Given the description of an element on the screen output the (x, y) to click on. 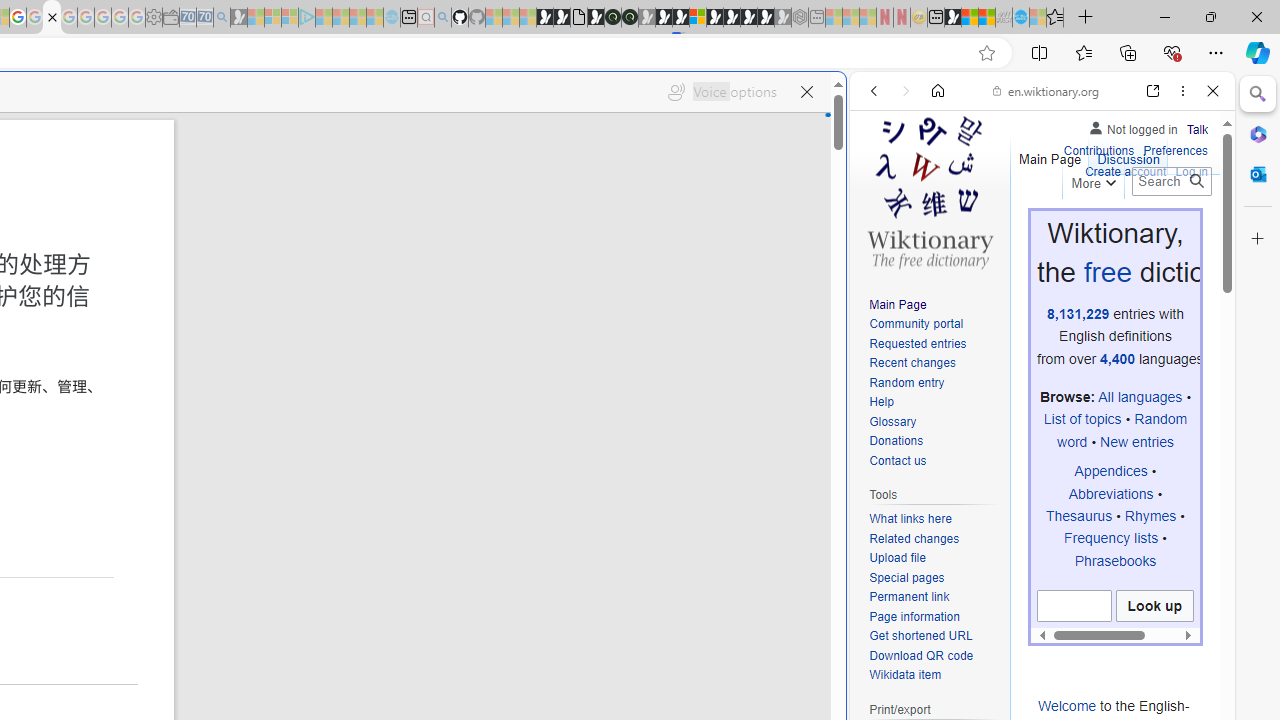
Recent changes (934, 363)
Permanent link (934, 597)
Contact us (897, 460)
Voice options (721, 92)
World - MSN (969, 17)
Appendices (1110, 471)
Special pages (934, 578)
Contributions (1098, 148)
All languages (1140, 397)
